Given the description of an element on the screen output the (x, y) to click on. 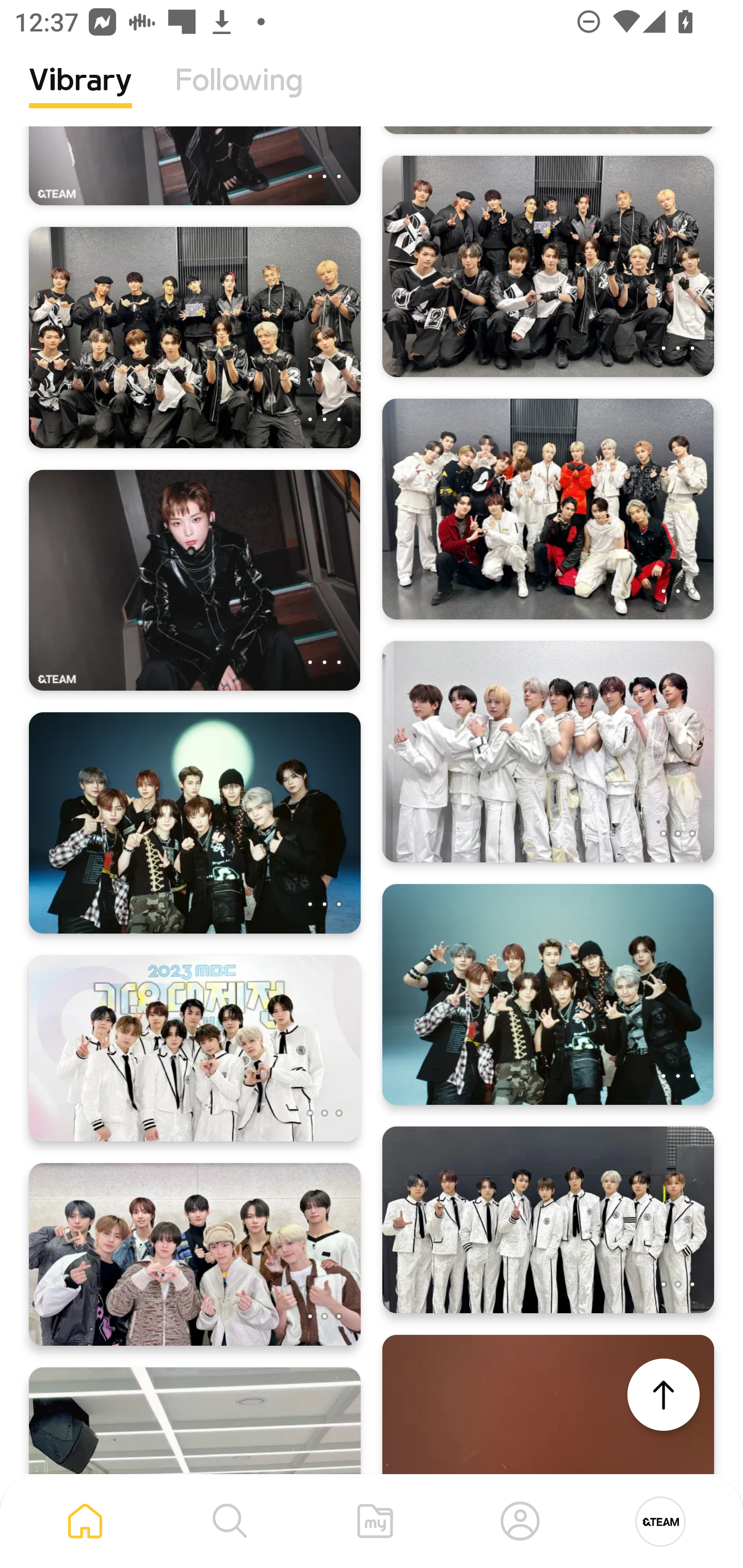
Vibrary (80, 95)
Following (239, 95)
